Given the description of an element on the screen output the (x, y) to click on. 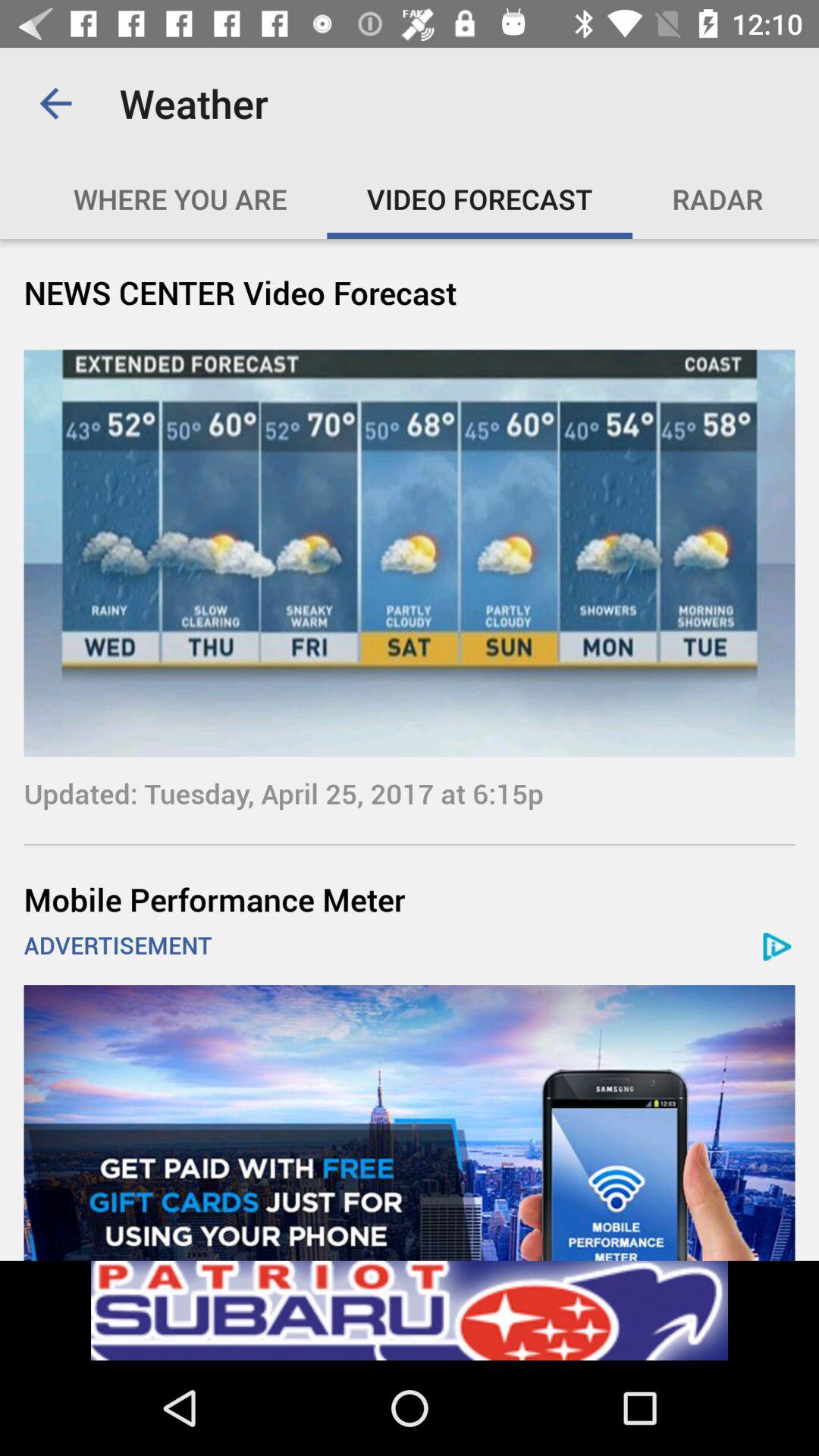
go to the text above advertisement (409, 898)
select the image under news center video forecast (409, 553)
go to the (426, 198)
select the image below advertisement (409, 1122)
